Given the description of an element on the screen output the (x, y) to click on. 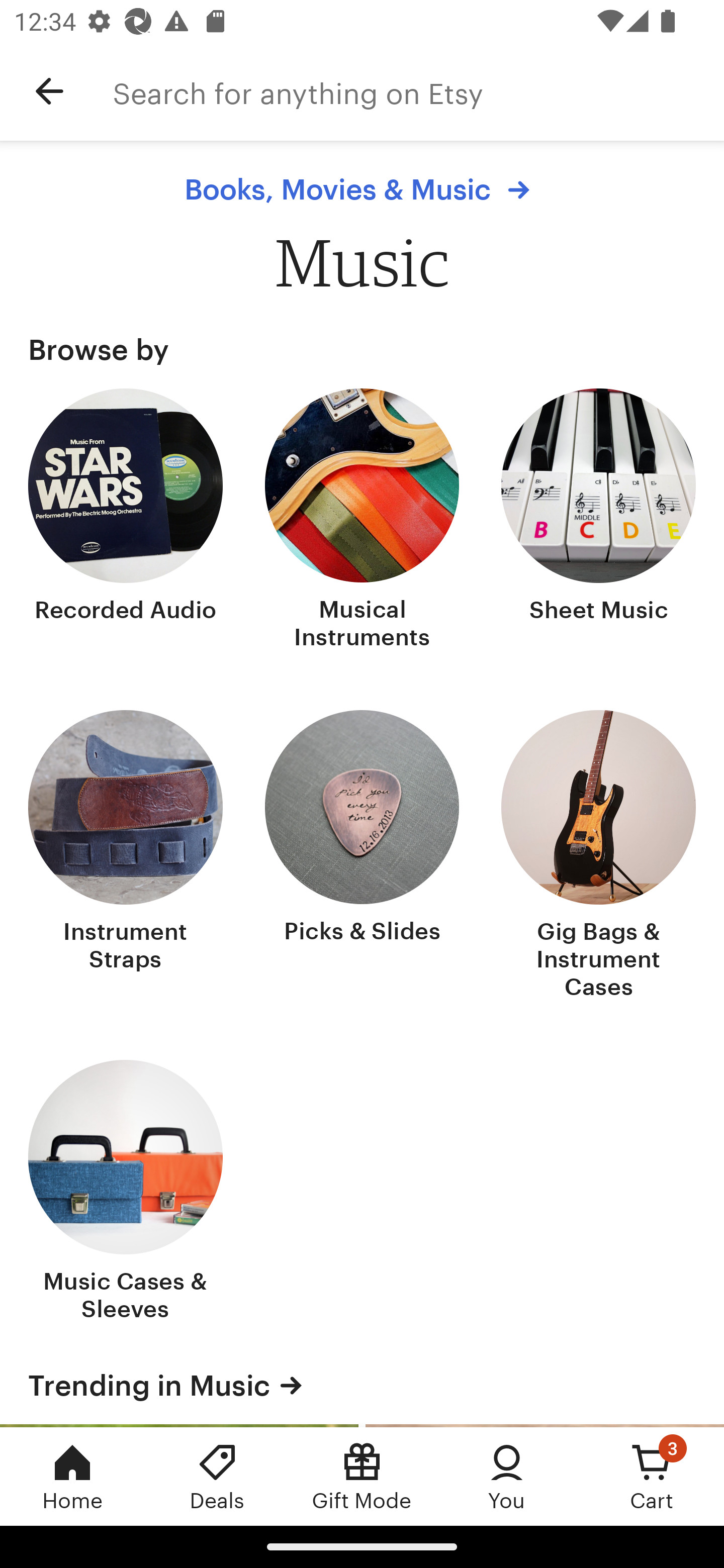
Navigate up (49, 91)
Search for anything on Etsy (418, 91)
Books, Movies & Music (361, 189)
Browse by (361, 349)
Recorded Audio (125, 520)
Musical Instruments (361, 520)
Sheet Music (598, 520)
Instrument Straps (125, 856)
Picks & Slides (361, 856)
Gig Bags & Instrument Cases (598, 856)
Music Cases & Sleeves (125, 1192)
Trending in Music  (361, 1384)
Deals (216, 1475)
Gift Mode (361, 1475)
You (506, 1475)
Cart, 3 new notifications Cart (651, 1475)
